Given the description of an element on the screen output the (x, y) to click on. 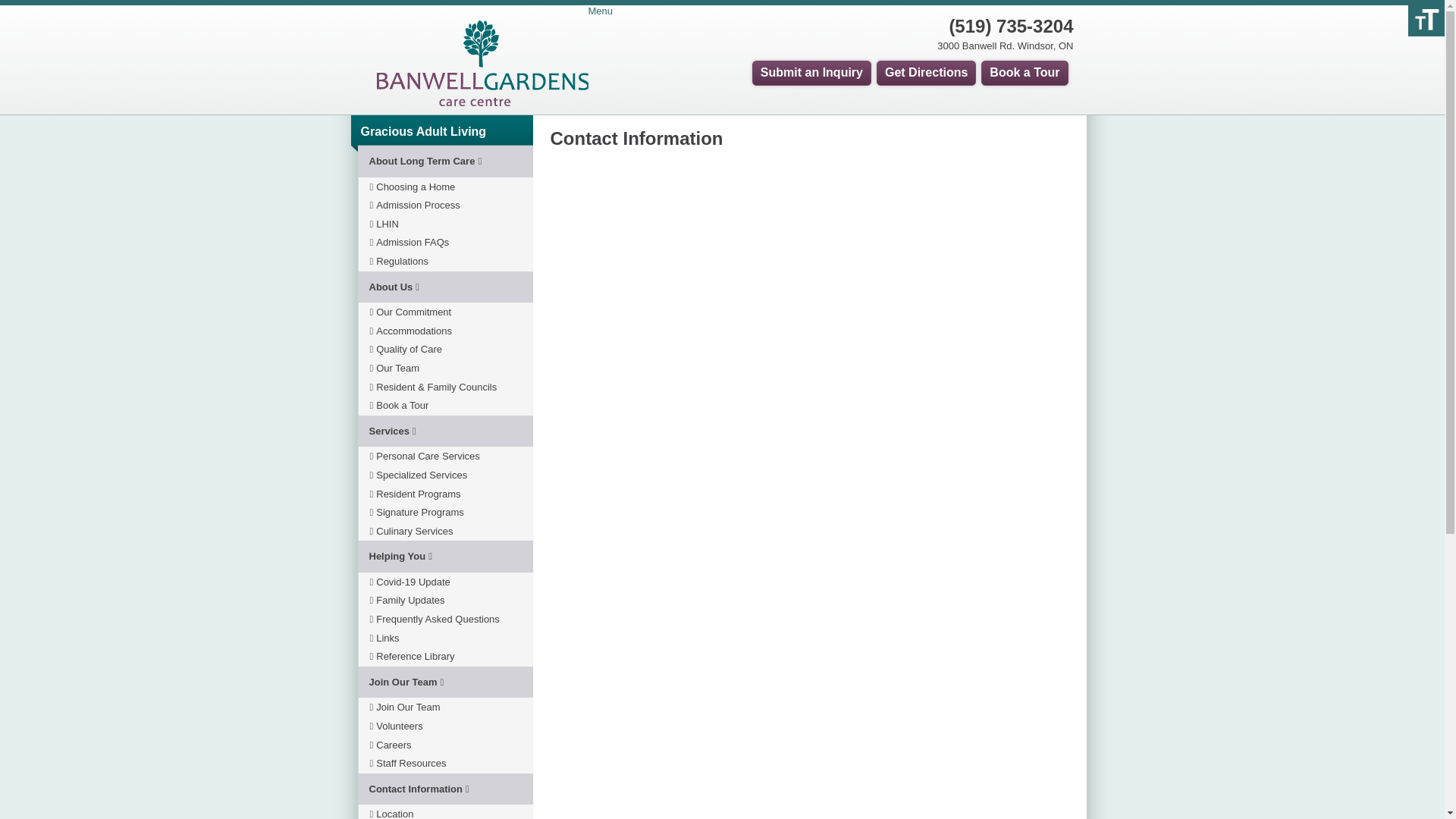
Admission FAQs Element type: text (409, 242)
Family Updates Element type: text (407, 600)
Our Commitment Element type: text (410, 312)
Frequently Asked Questions Element type: text (434, 619)
Accessibility Helper sidebar Element type: hover (1426, 18)
Admission Process Element type: text (415, 205)
Specialized Services Element type: text (418, 475)
Resident Programs Element type: text (415, 494)
Helping You Element type: text (444, 556)
Our Team Element type: text (395, 368)
Join Our Team Element type: text (444, 682)
Staff Resources Element type: text (408, 763)
LHIN Element type: text (384, 224)
Accommodations Element type: text (410, 331)
Choosing a Home Element type: text (412, 187)
Get Directions Element type: text (925, 72)
About Long Term Care Element type: text (444, 161)
Careers Element type: text (390, 745)
Personal Care Services Element type: text (425, 456)
Culinary Services Element type: text (411, 531)
Submit an Inquiry Element type: text (811, 72)
Volunteers Element type: text (396, 726)
Book a Tour Element type: text (1024, 72)
Services Element type: text (444, 431)
Menu Element type: text (715, 11)
Resident & Family Councils Element type: text (433, 387)
Reference Library Element type: text (412, 656)
Links Element type: text (384, 638)
Contact Information Element type: text (444, 789)
Join Our Team Element type: text (405, 707)
About Us Element type: text (444, 287)
Covid-19 Update Element type: text (410, 582)
Book a Tour Element type: text (399, 405)
Regulations Element type: text (399, 261)
Signature Programs Element type: text (417, 512)
Quality of Care Element type: text (406, 349)
